Given the description of an element on the screen output the (x, y) to click on. 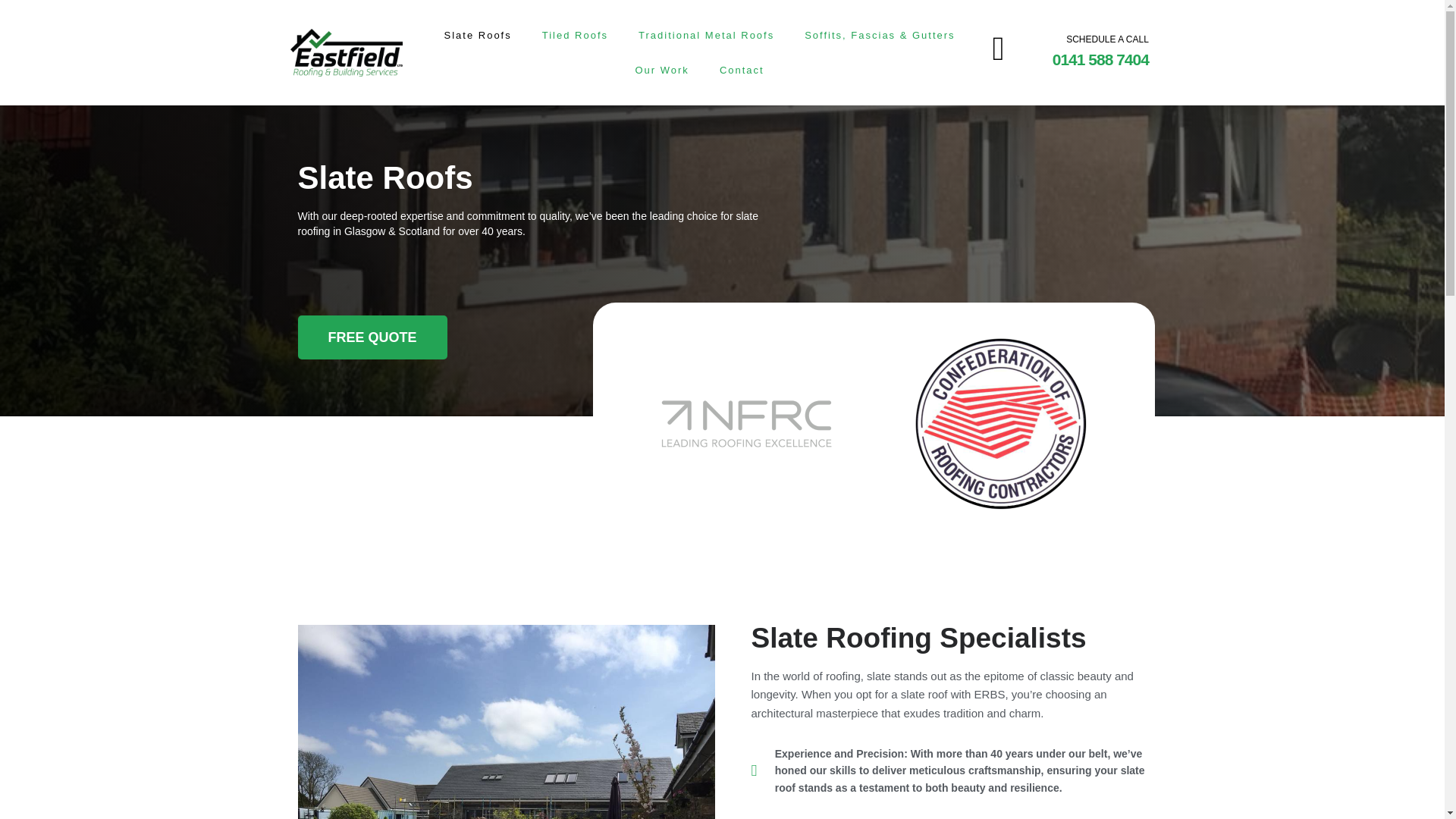
Tiled Roofs (575, 35)
SCHEDULE A CALL (1106, 39)
Our Work (661, 70)
Slate Roofs (478, 35)
Contact (741, 70)
Traditional Metal Roofs (706, 35)
FREE QUOTE (371, 337)
